Given the description of an element on the screen output the (x, y) to click on. 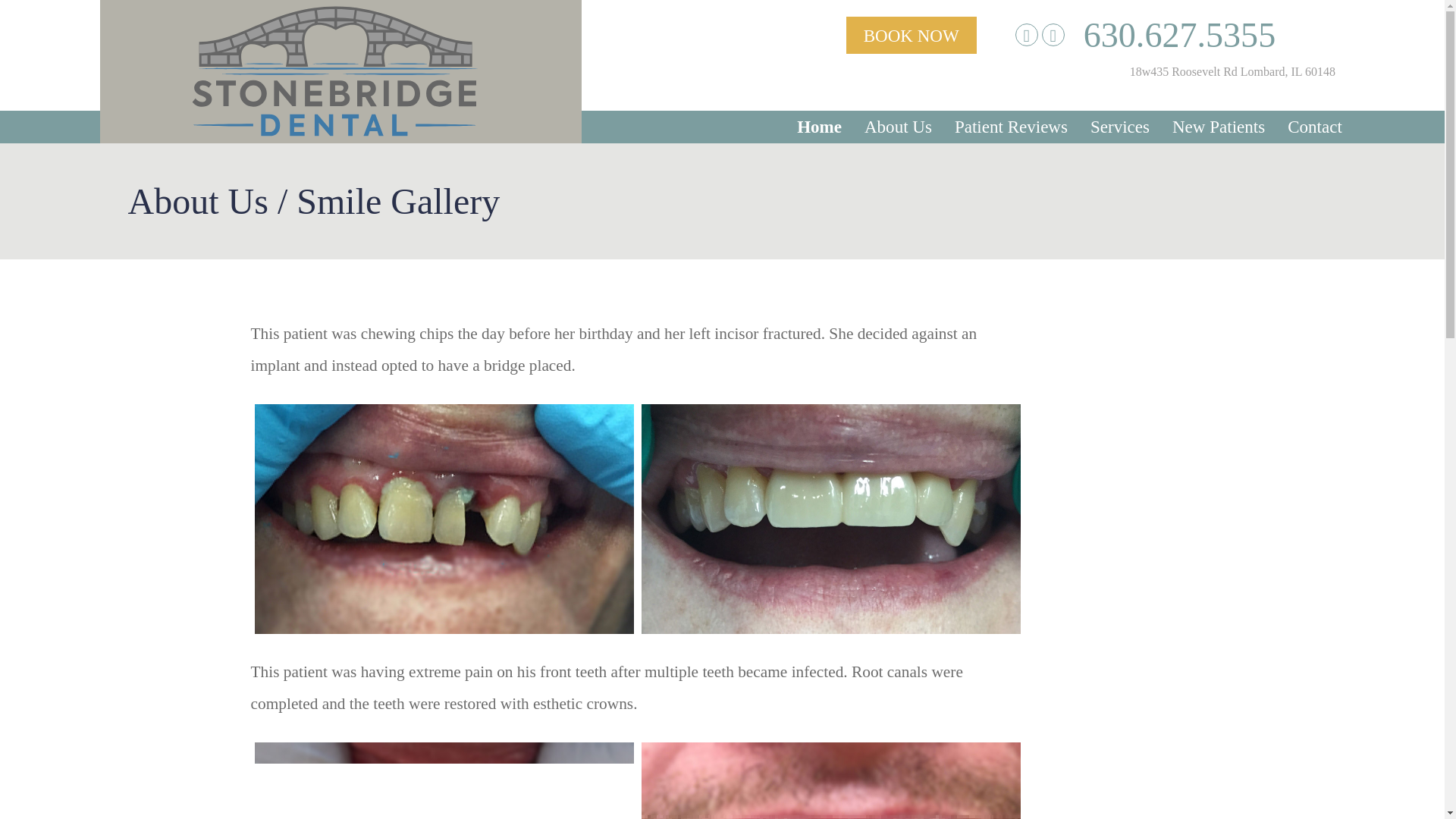
Contact (1314, 126)
630.627.5355 (1179, 35)
About Us (898, 126)
Patient Reviews (1011, 126)
Home (818, 126)
18w435 Roosevelt Rd Lombard, IL 60148 (1232, 72)
BOOK NOW (910, 35)
Services (1120, 126)
New Patients (1218, 126)
